Given the description of an element on the screen output the (x, y) to click on. 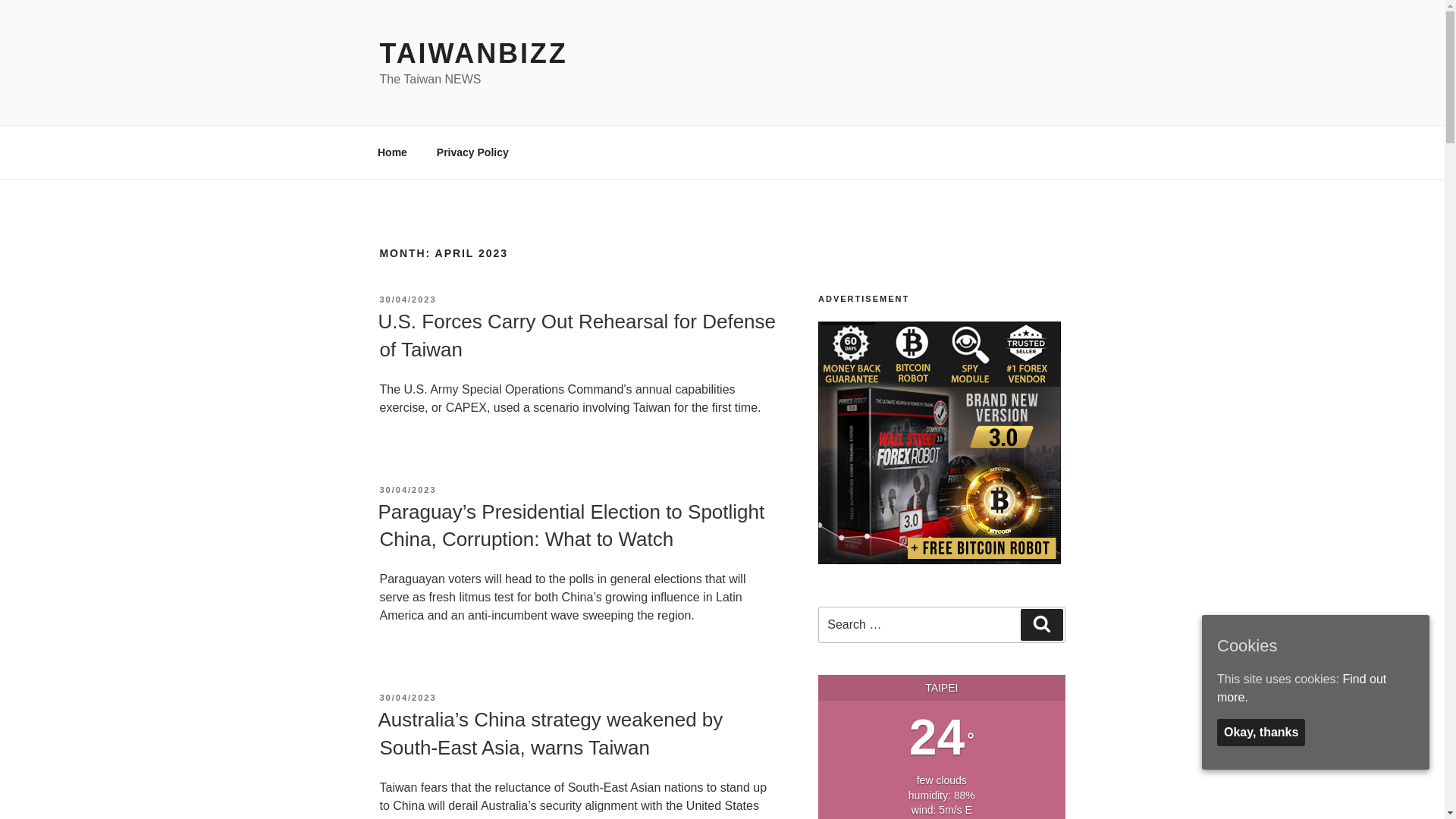
TAIWANBIZZ (472, 52)
Home (392, 151)
U.S. Forces Carry Out Rehearsal for Defense of Taiwan (576, 335)
Privacy Policy (472, 151)
